Given the description of an element on the screen output the (x, y) to click on. 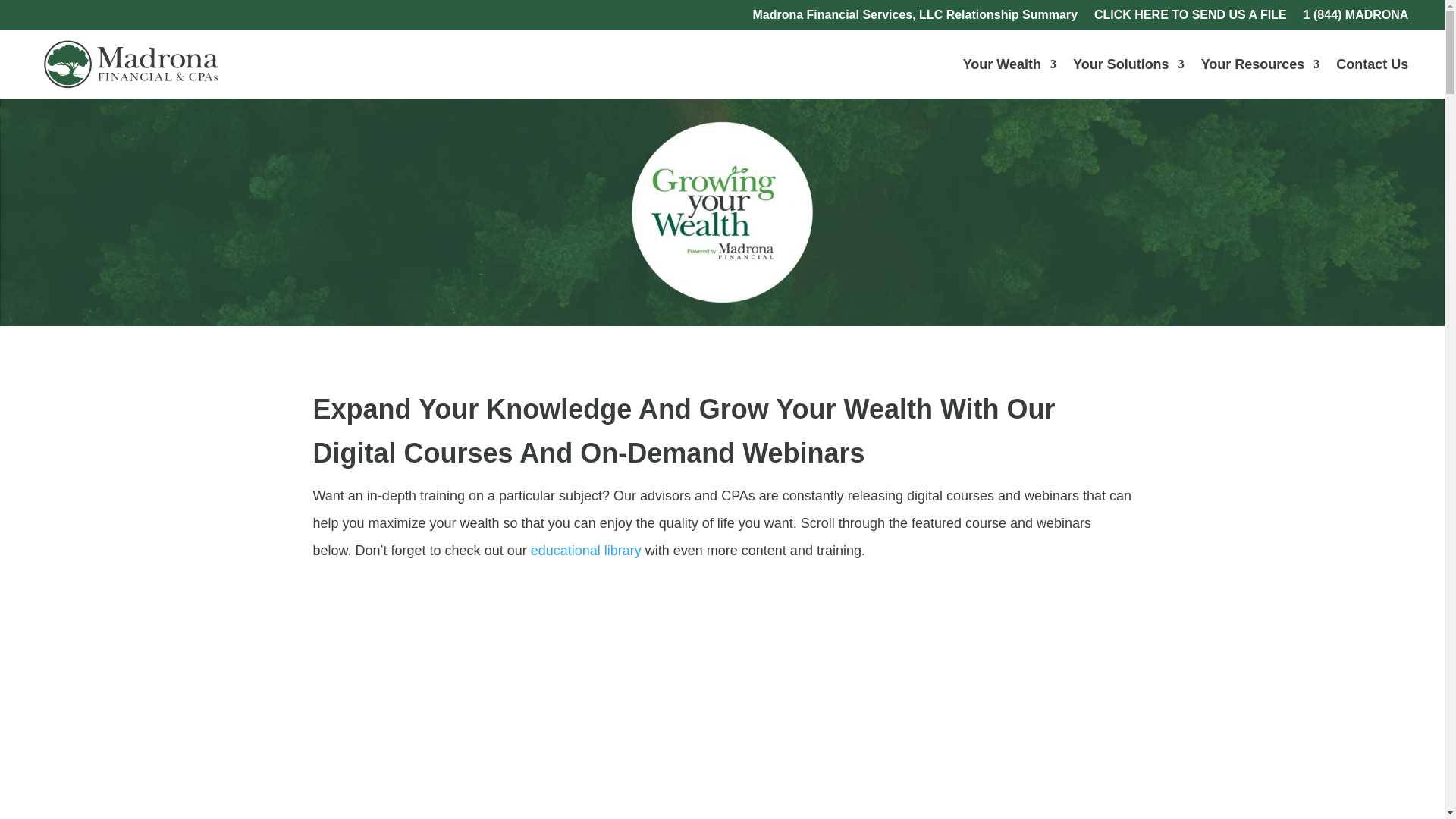
Contact Us (1371, 64)
Your Solutions (1129, 64)
Your Wealth (1009, 64)
Your Resources (1260, 64)
CLICK HERE TO SEND US A FILE (1190, 17)
Madrona Financial Services, LLC Relationship Summary (914, 17)
